Given the description of an element on the screen output the (x, y) to click on. 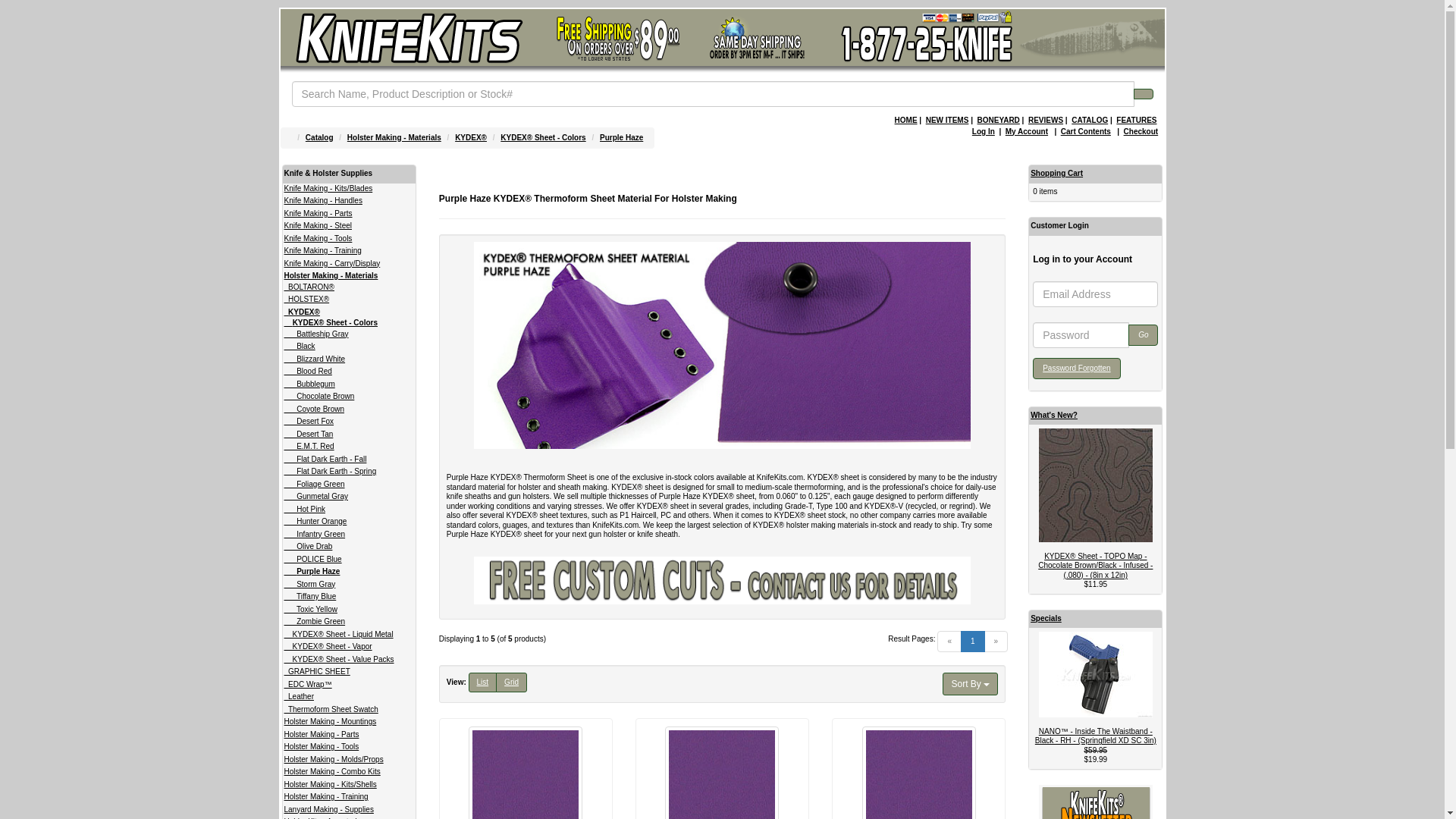
Catalog (319, 137)
List (482, 682)
 Page 1  (972, 640)
Checkout (1141, 131)
Sort By (969, 683)
KnifeKits.com (408, 41)
HOME (906, 120)
FEATURES (1136, 120)
Log In (983, 131)
My Account (1027, 131)
CATALOG (1089, 120)
Holster Making - Materials (394, 137)
BONEYARD (998, 120)
REVIEWS (1044, 120)
Cart Contents (1085, 131)
